Given the description of an element on the screen output the (x, y) to click on. 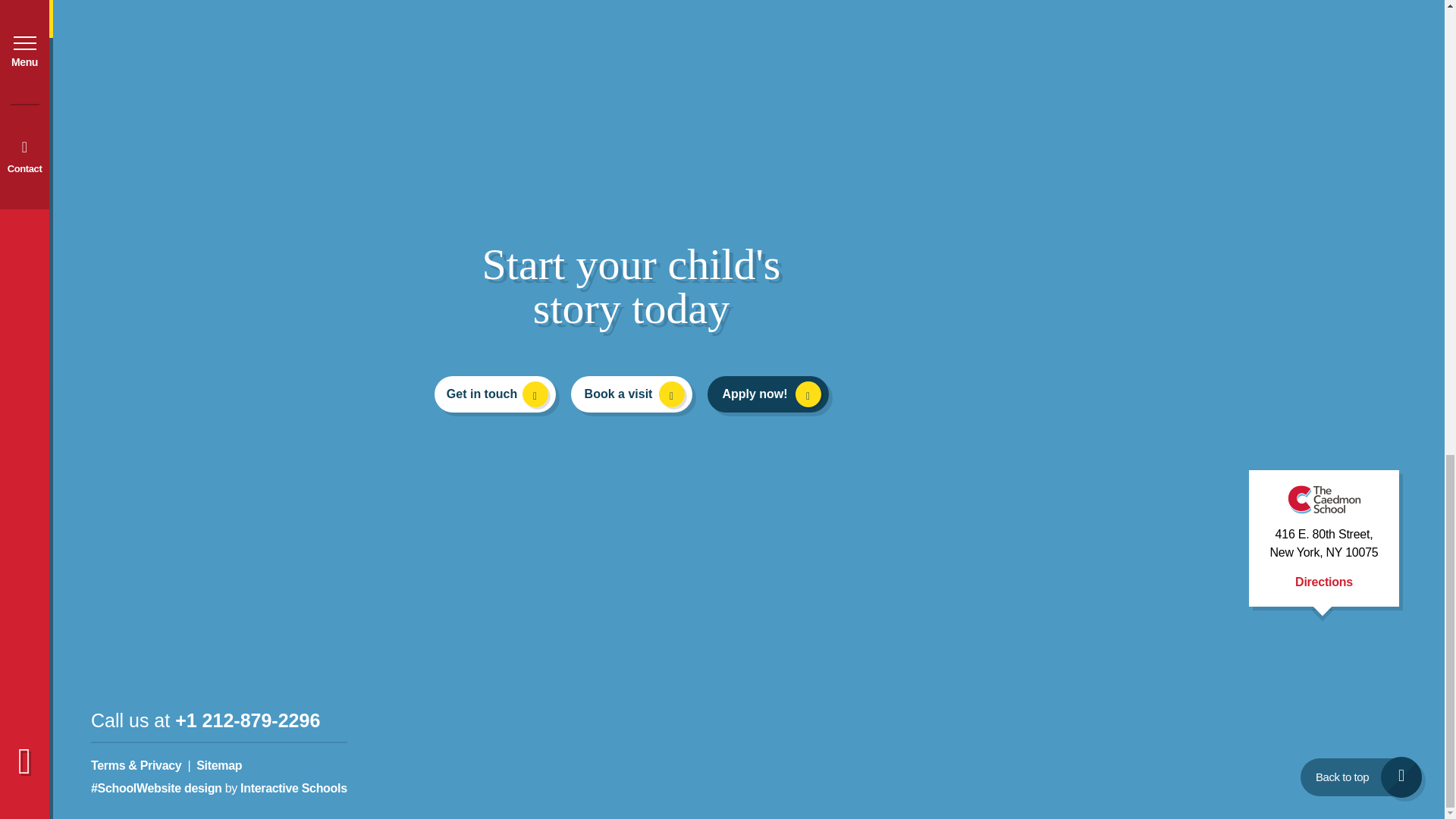
Get in touch (493, 393)
Apply now! (767, 393)
Interactive Schools (293, 788)
Back to top (1361, 777)
Sitemap (218, 765)
Book a visit (630, 393)
Directions (1323, 581)
